Given the description of an element on the screen output the (x, y) to click on. 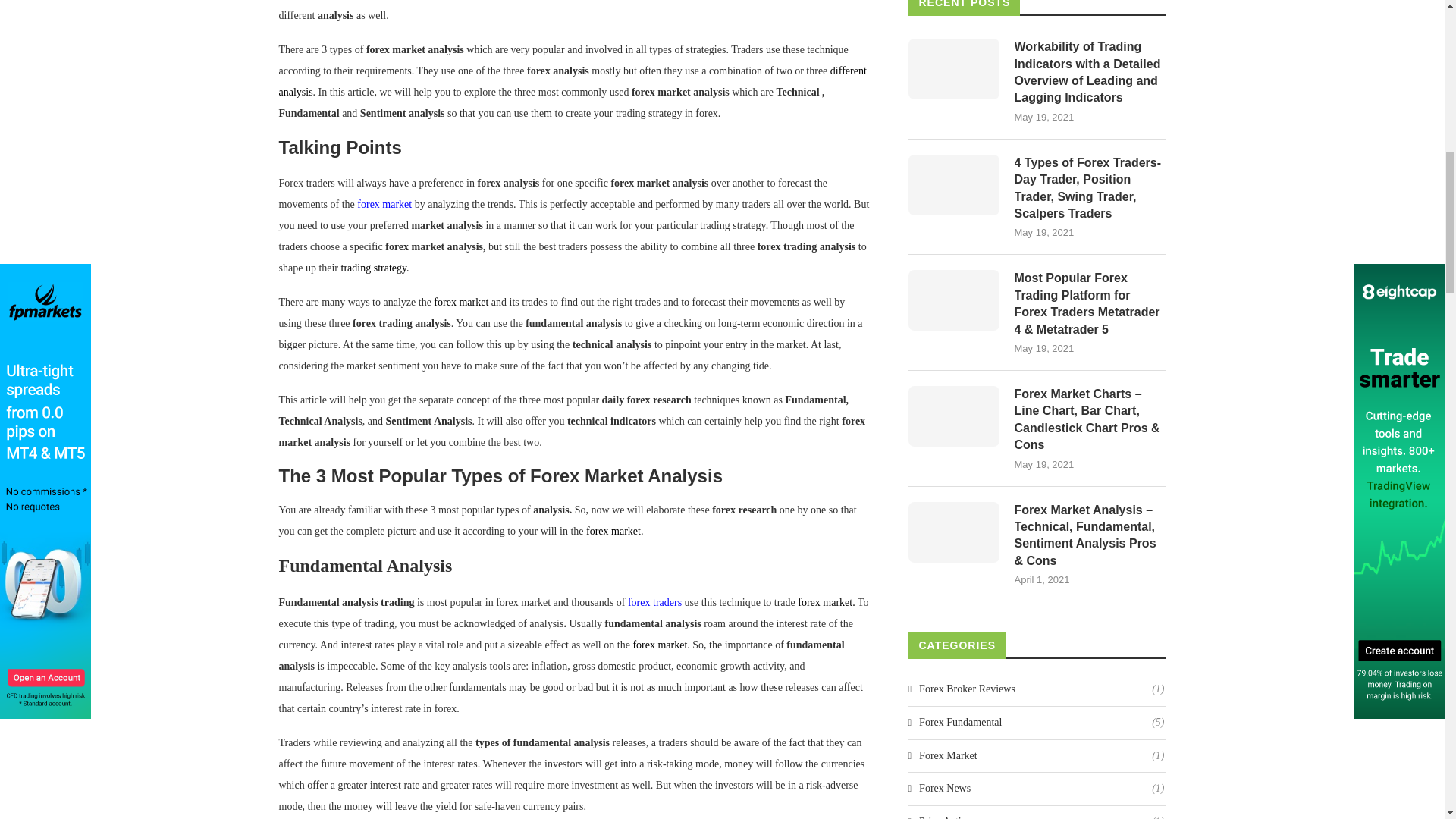
forex traders (654, 602)
forex market (384, 204)
